Given the description of an element on the screen output the (x, y) to click on. 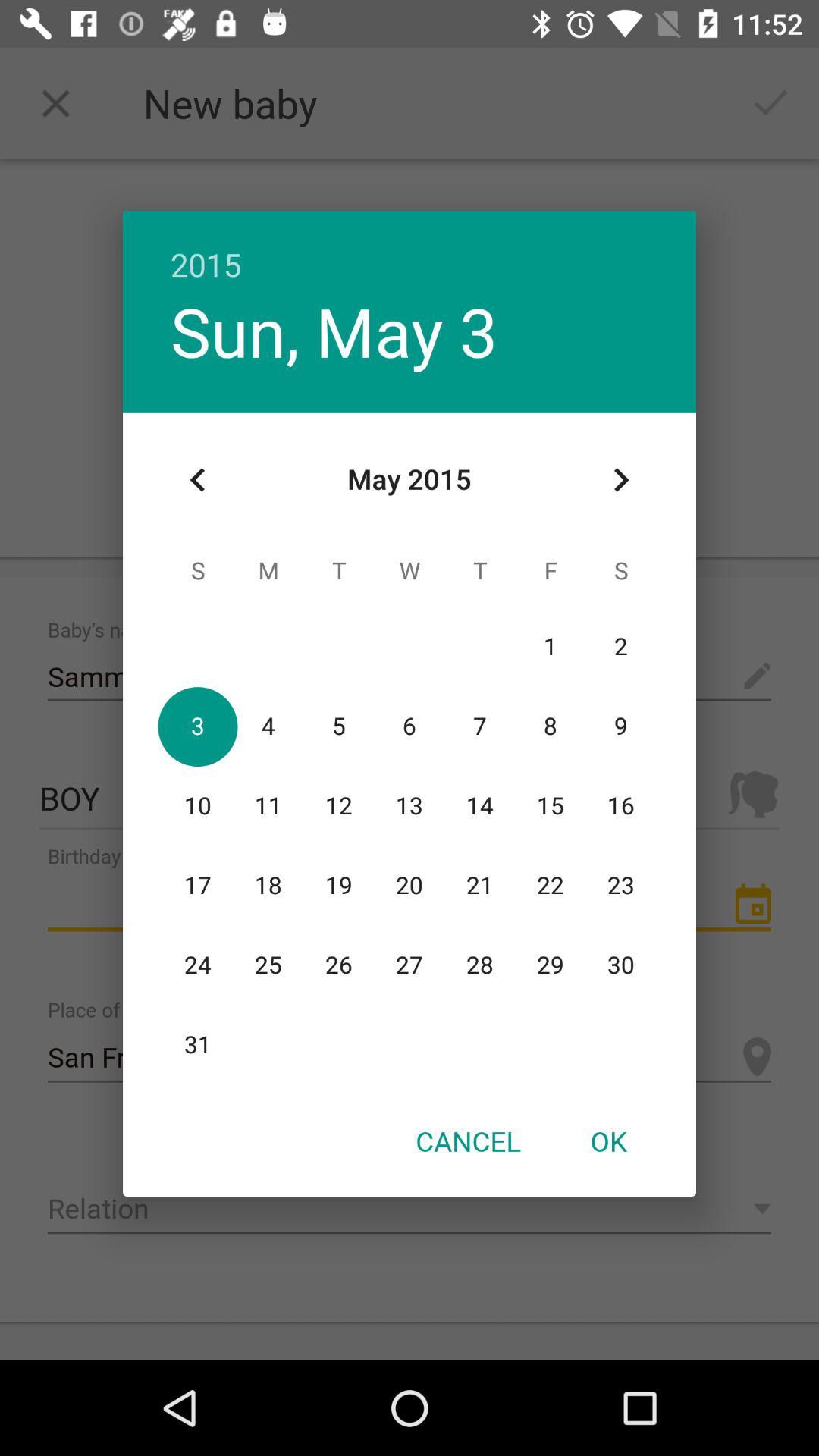
launch the icon below 2015 icon (333, 331)
